Given the description of an element on the screen output the (x, y) to click on. 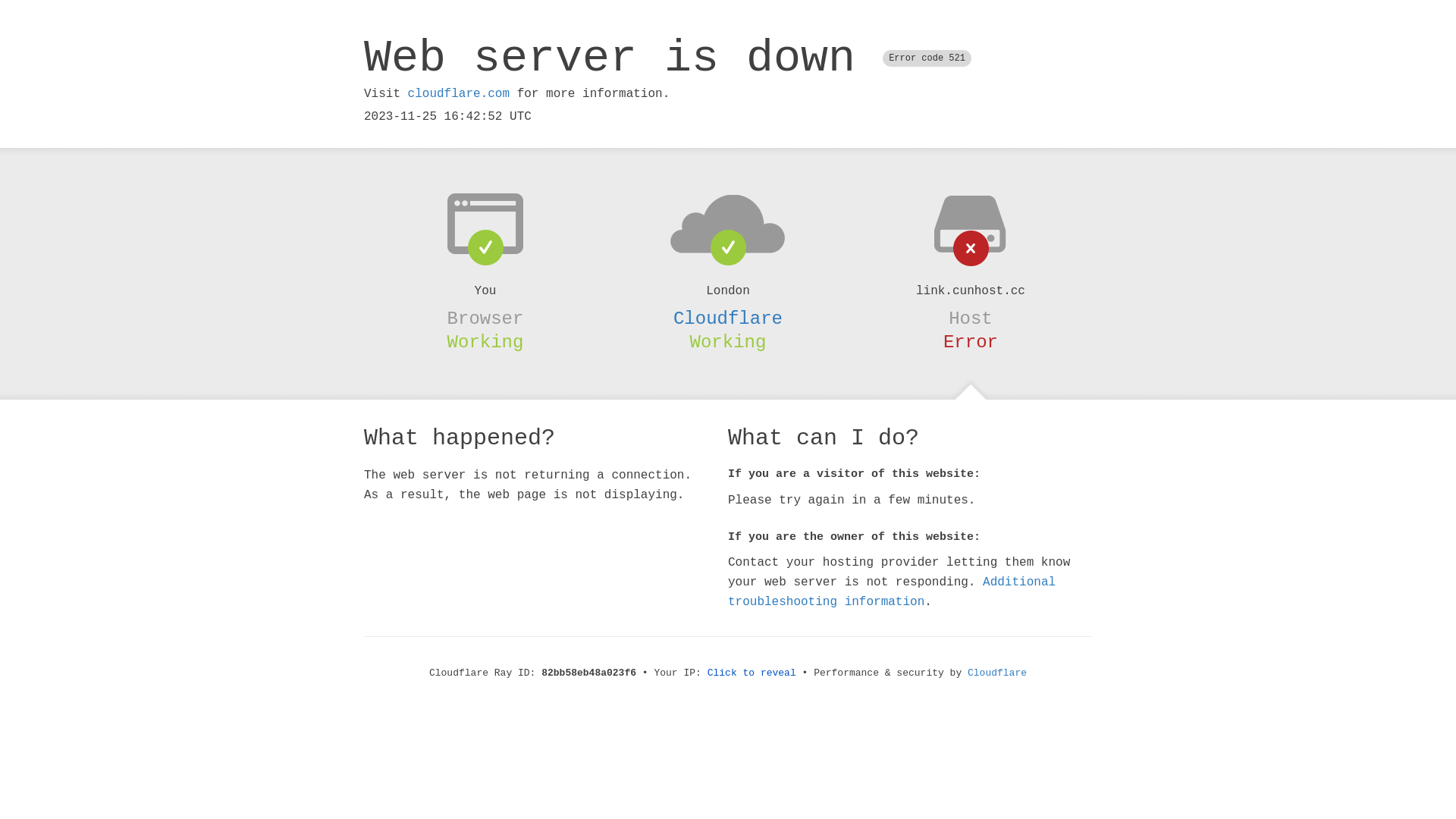
Cloudflare Element type: text (727, 318)
Click to reveal Element type: text (751, 672)
Cloudflare Element type: text (996, 672)
cloudflare.com Element type: text (458, 93)
Additional troubleshooting information Element type: text (891, 591)
